Given the description of an element on the screen output the (x, y) to click on. 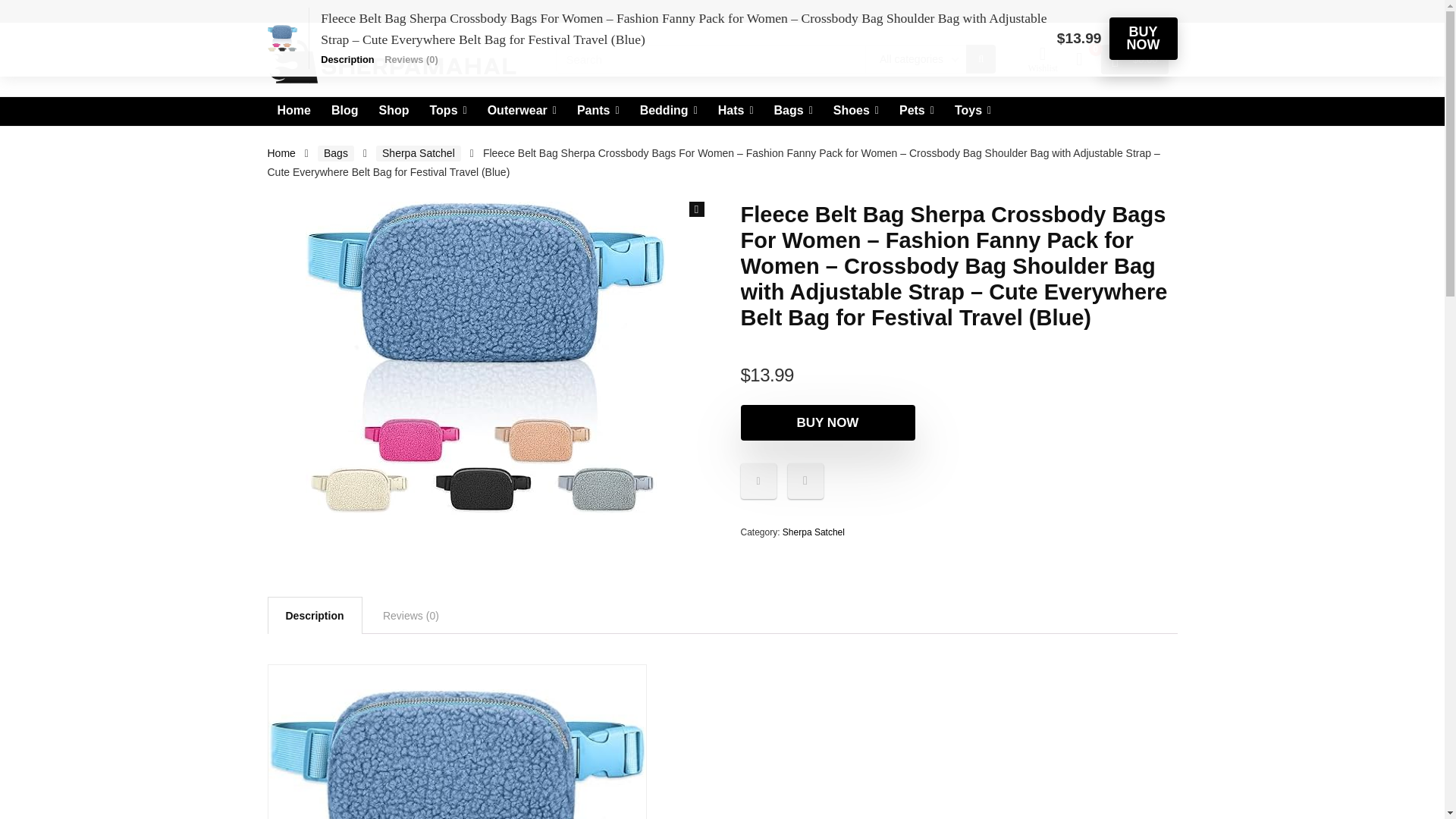
Shop (393, 111)
Hats (734, 111)
Outerwear (521, 111)
Home (293, 111)
Tops (448, 111)
Bedding (668, 111)
Pants (597, 111)
Blog (344, 111)
